Given the description of an element on the screen output the (x, y) to click on. 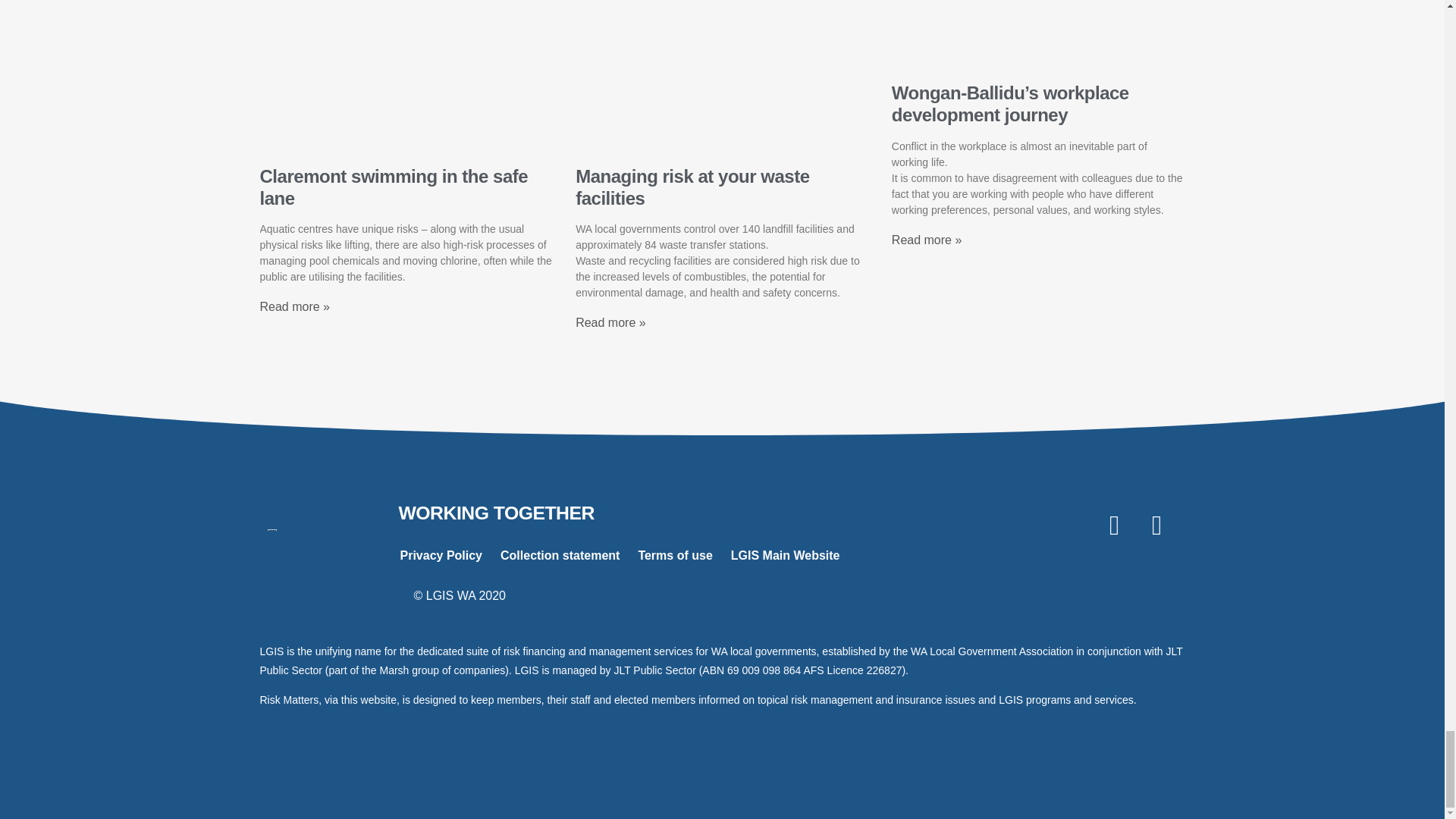
Collection statement (560, 555)
Managing risk at your waste facilities (692, 187)
Privacy Policy (441, 555)
Claremont swimming in the safe lane (393, 187)
